Given the description of an element on the screen output the (x, y) to click on. 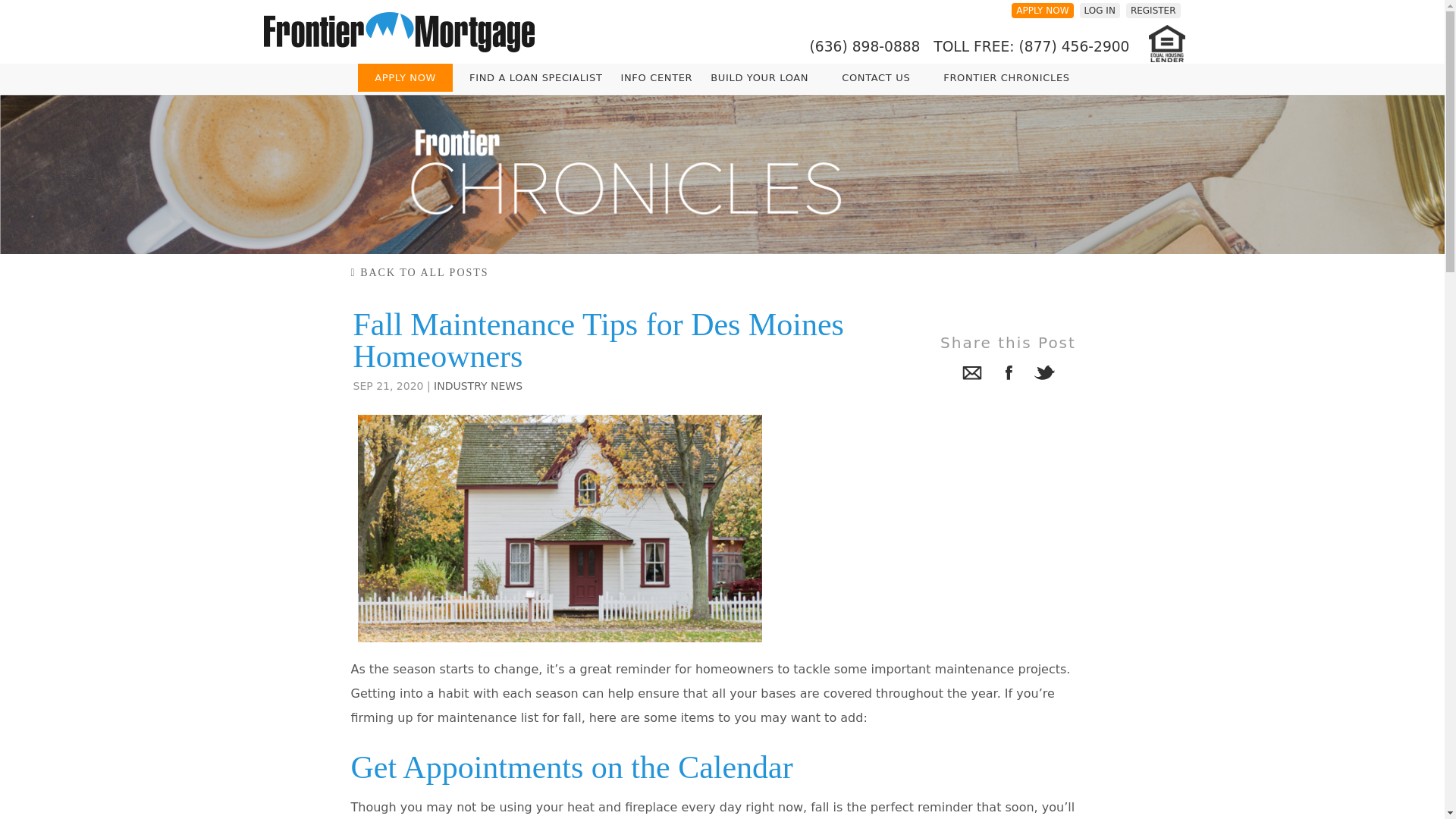
APPLY NOW (1042, 9)
BACK TO ALL POSTS (418, 272)
INDUSTRY NEWS (477, 386)
CONTACT US (875, 78)
BUILD YOUR LOAN (759, 78)
APPLY NOW (405, 78)
Facebook (1007, 374)
REGISTER (1152, 9)
Twitter (1043, 374)
LOG IN (1099, 9)
Send Email (970, 374)
FIND A LOAN SPECIALIST (535, 78)
FRONTIER CHRONICLES (1006, 78)
